Given the description of an element on the screen output the (x, y) to click on. 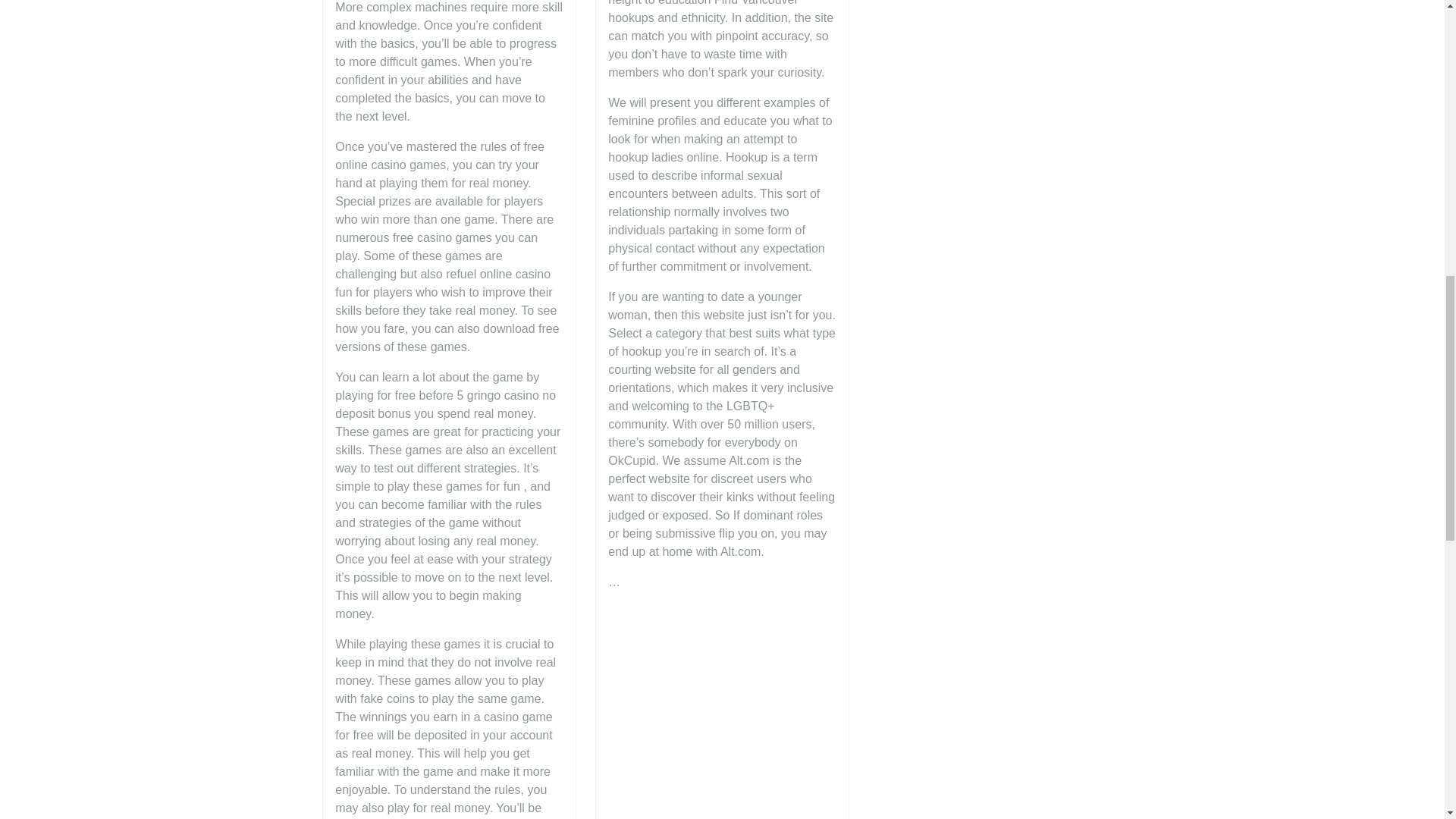
Find Vancouver hookups (702, 12)
refuel online casino (497, 273)
5 gringo casino no deposit bonus (445, 404)
